Given the description of an element on the screen output the (x, y) to click on. 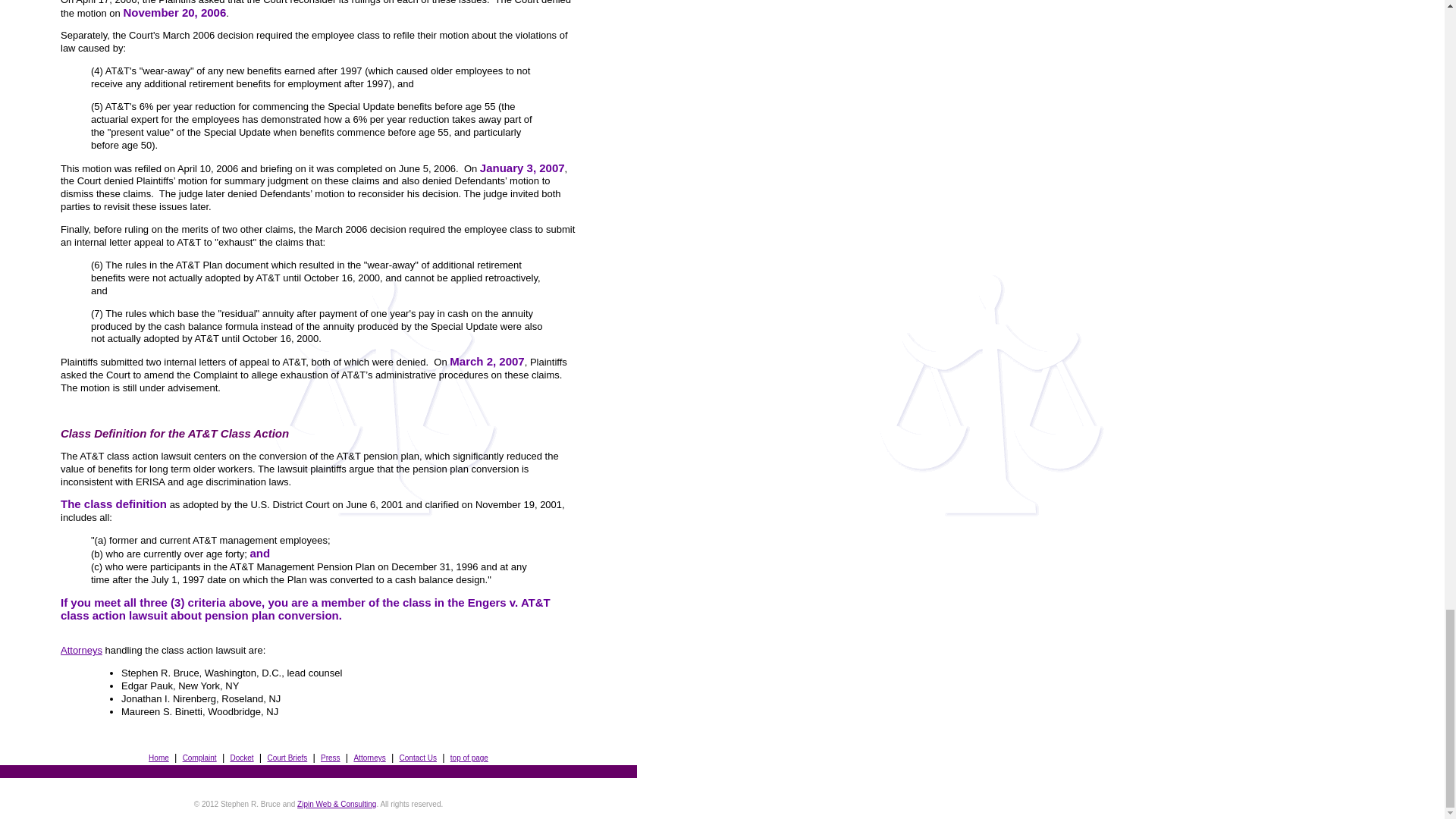
Attorneys (369, 756)
Attorneys (81, 650)
Complaint (199, 756)
top of page (468, 757)
Docket (241, 756)
Court Briefs (286, 756)
Press (330, 756)
Contact Us (417, 756)
Home (158, 756)
